Given the description of an element on the screen output the (x, y) to click on. 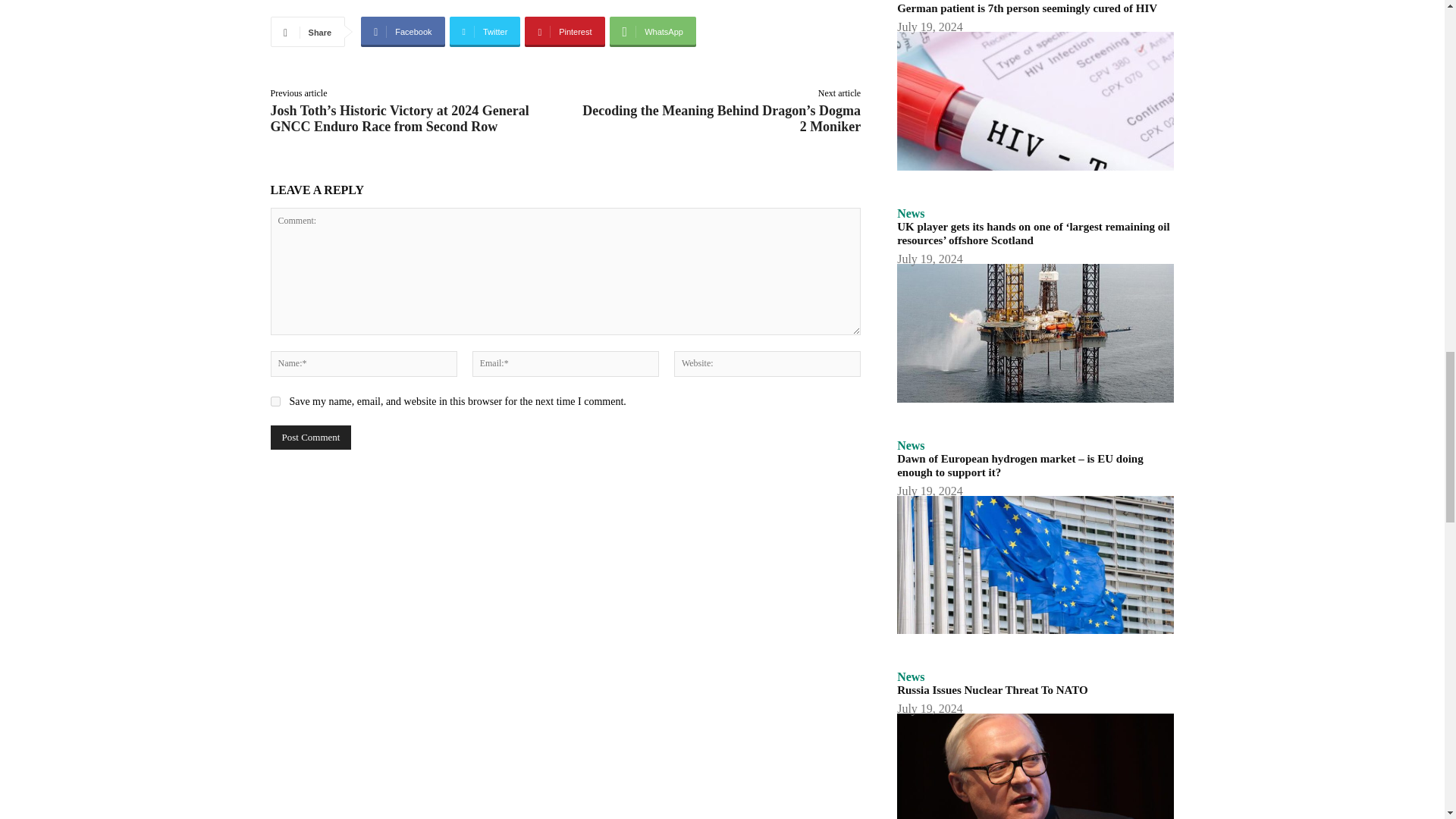
Post Comment (309, 437)
yes (274, 401)
